Given the description of an element on the screen output the (x, y) to click on. 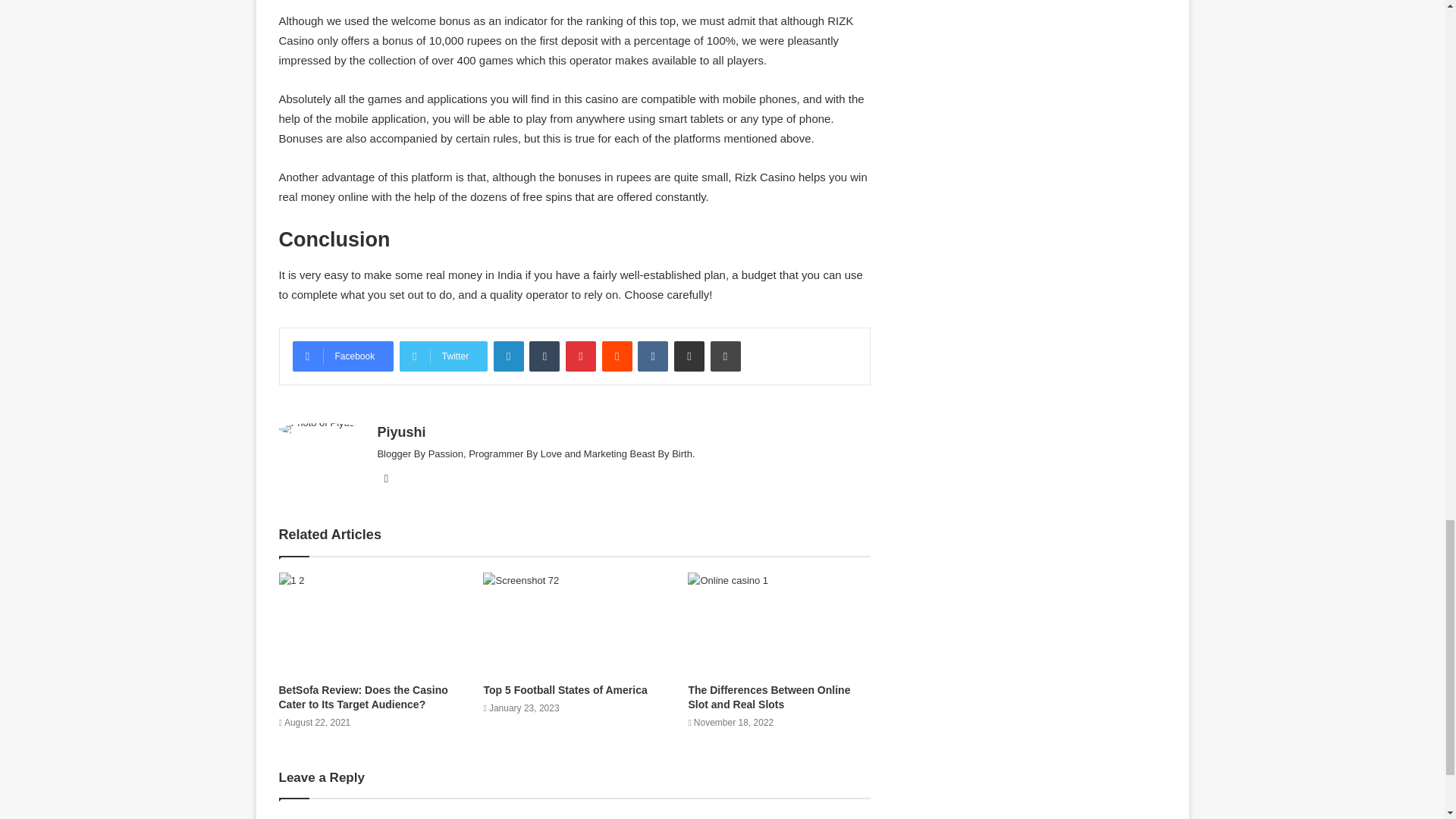
Twitter (442, 356)
Tumblr (544, 356)
Pinterest (580, 356)
Share via Email (689, 356)
Facebook (343, 356)
VKontakte (652, 356)
Piyushi (401, 432)
Twitter (442, 356)
Top 5 Football States of America (564, 689)
Reddit (616, 356)
Pinterest (580, 356)
Print (725, 356)
Facebook (343, 356)
Tumblr (544, 356)
